Given the description of an element on the screen output the (x, y) to click on. 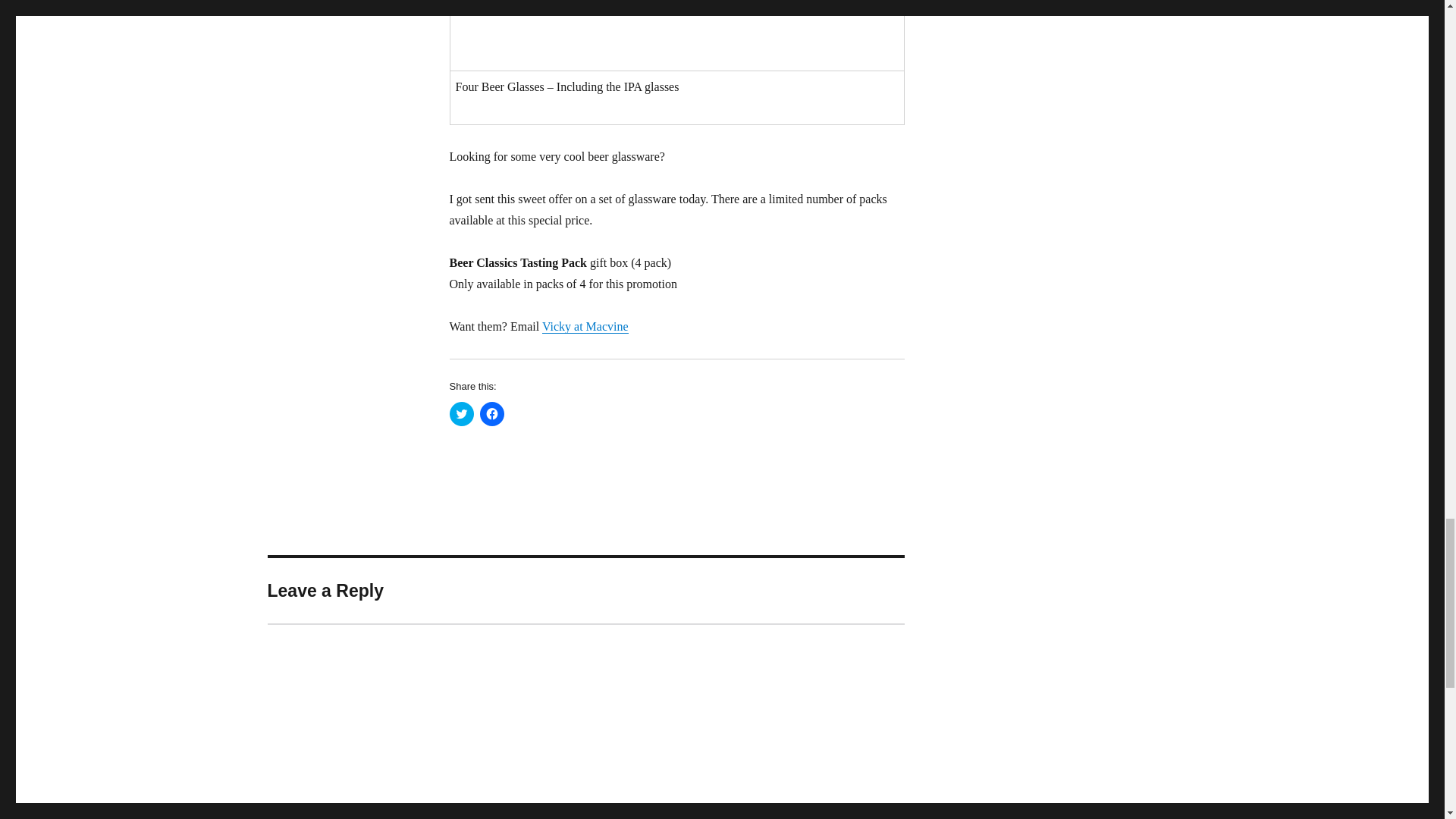
Click to share on Twitter (460, 413)
Comment Form (585, 721)
Vicky at Macvine (584, 326)
Click to share on Facebook (491, 413)
